Given the description of an element on the screen output the (x, y) to click on. 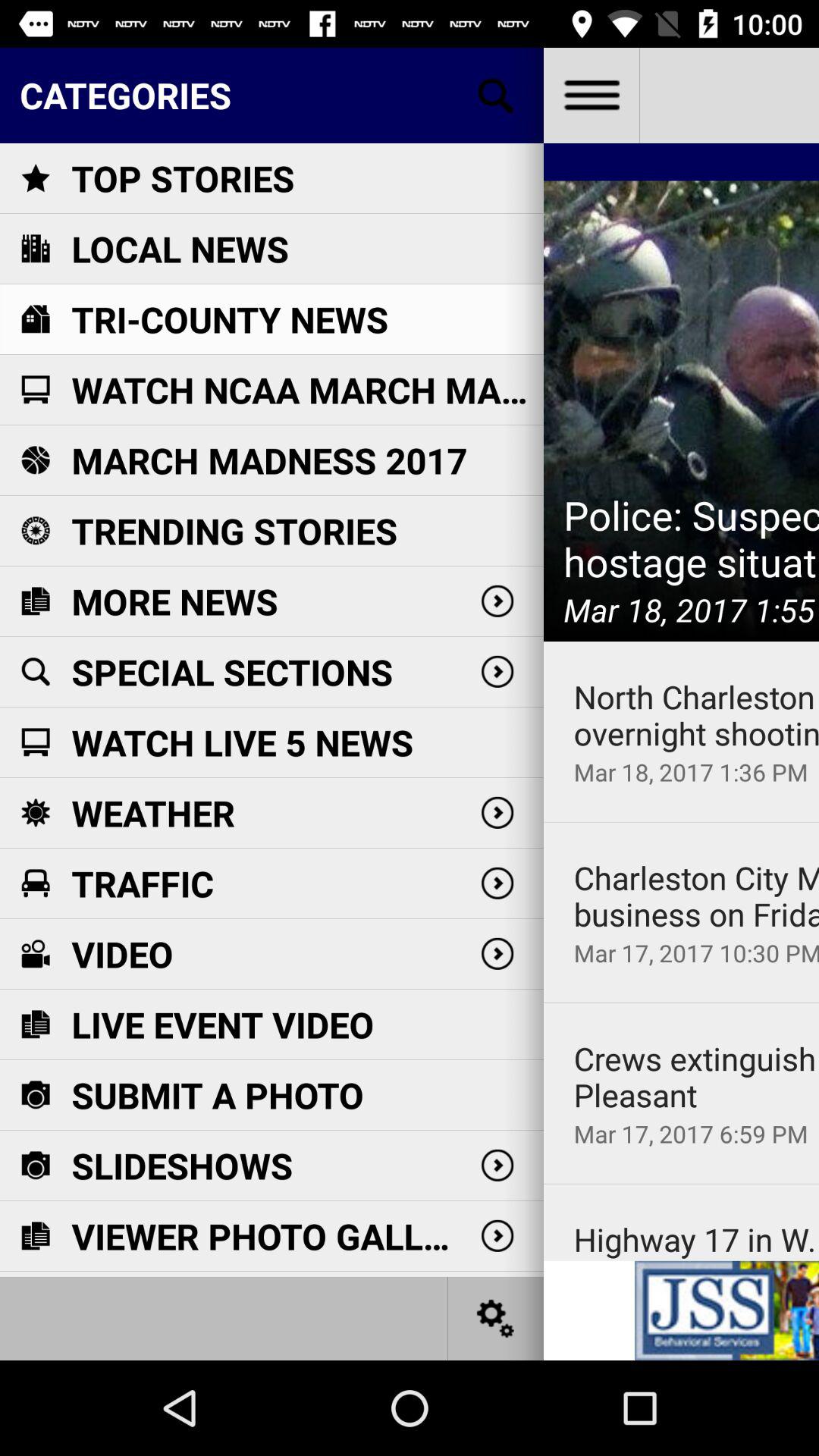
jump to highway 17 in (696, 1238)
